Given the description of an element on the screen output the (x, y) to click on. 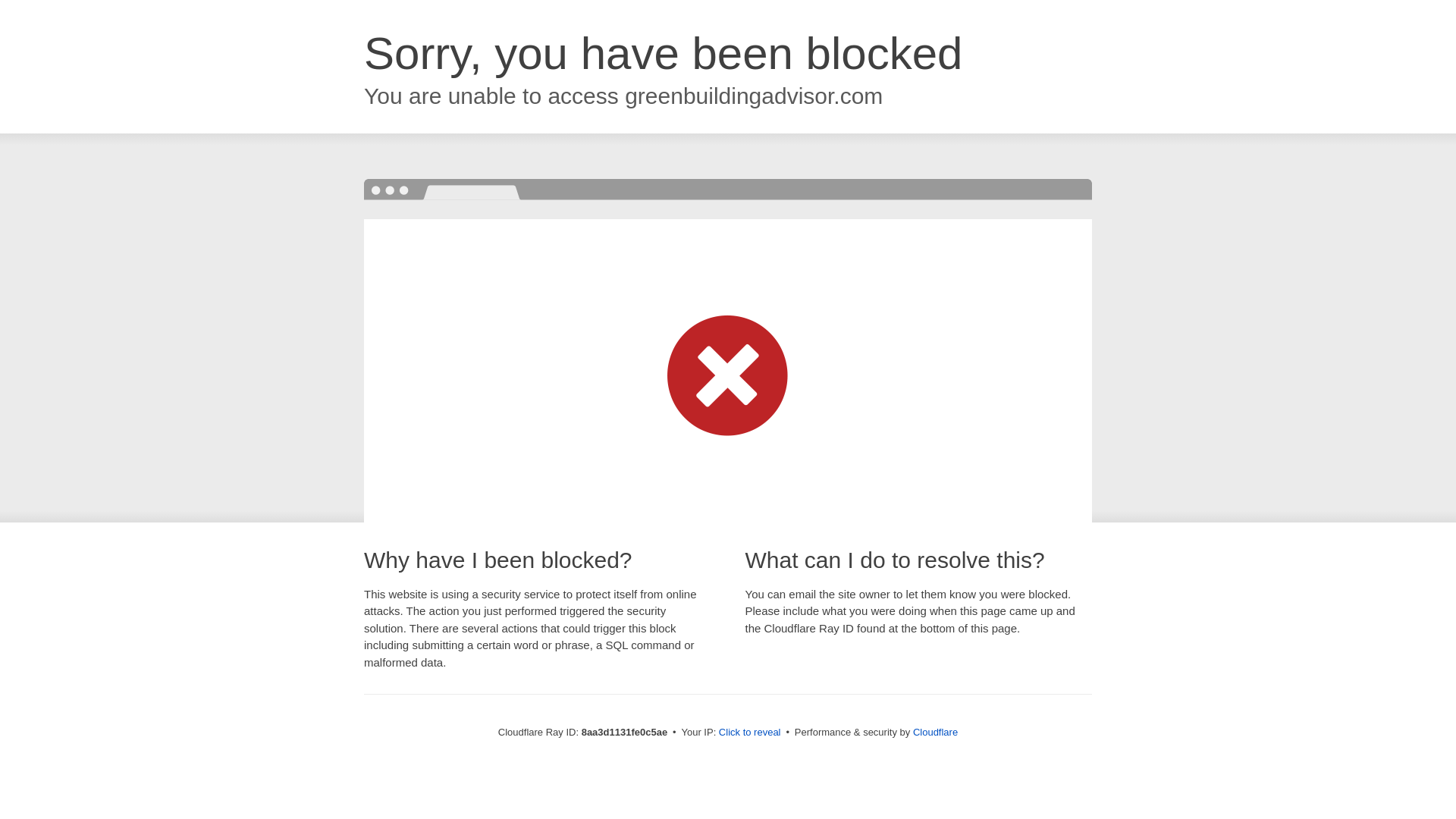
Click to reveal (749, 732)
Cloudflare (935, 731)
